Given the description of an element on the screen output the (x, y) to click on. 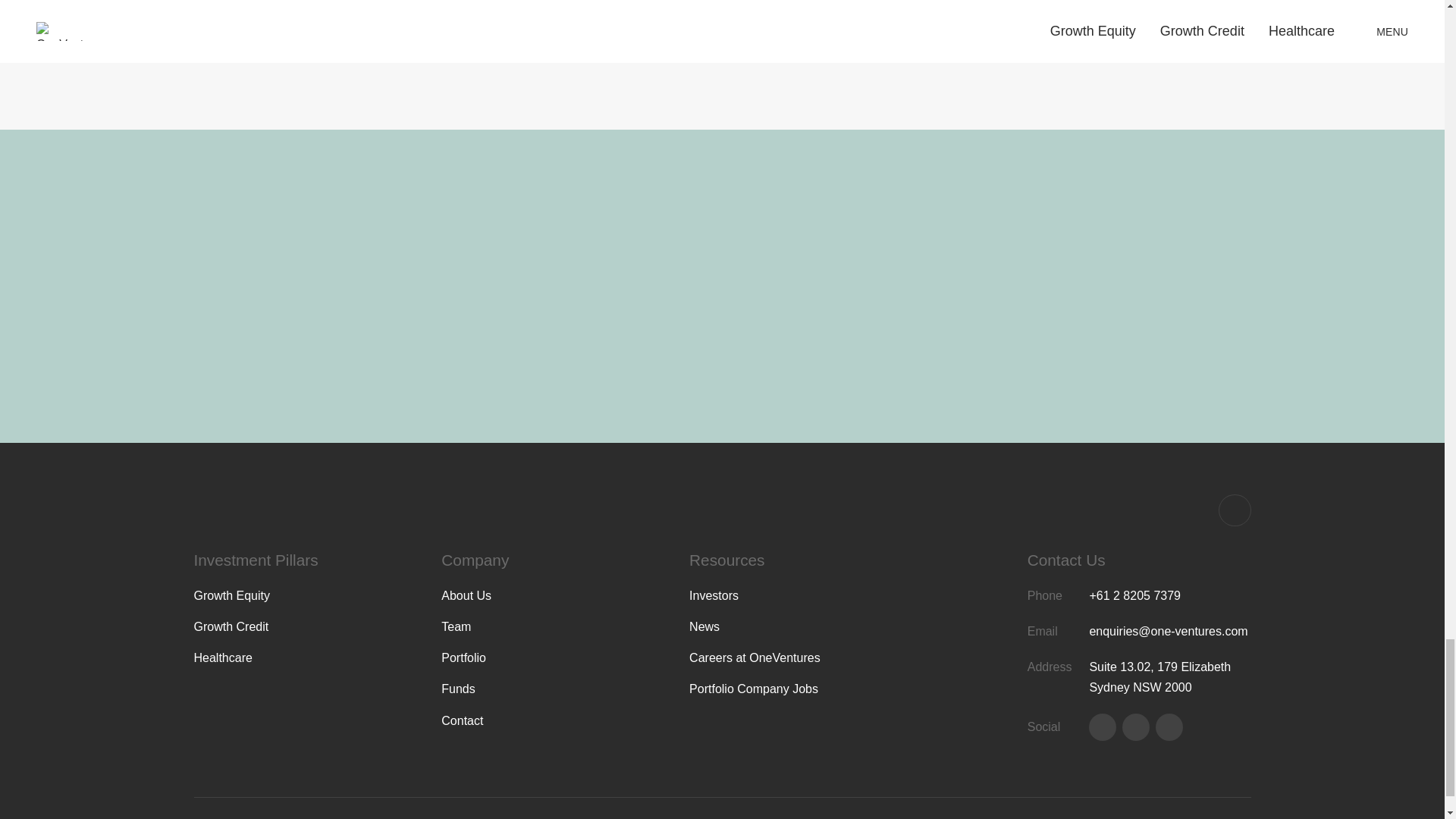
SUBSCRIBE (253, 351)
